Given the description of an element on the screen output the (x, y) to click on. 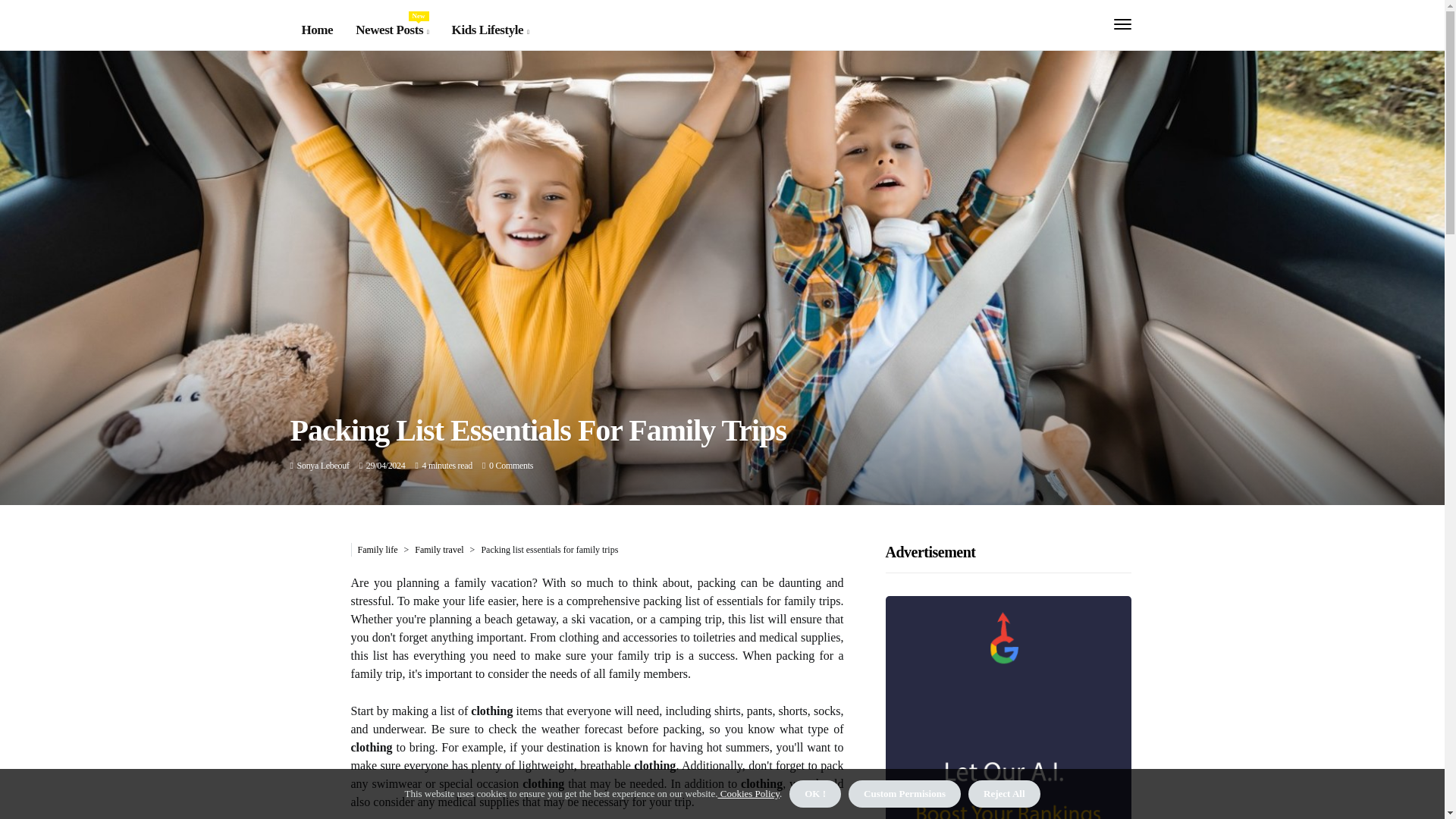
Kids Lifestyle (490, 30)
Posts by Sonya Lebeouf (391, 30)
